Given the description of an element on the screen output the (x, y) to click on. 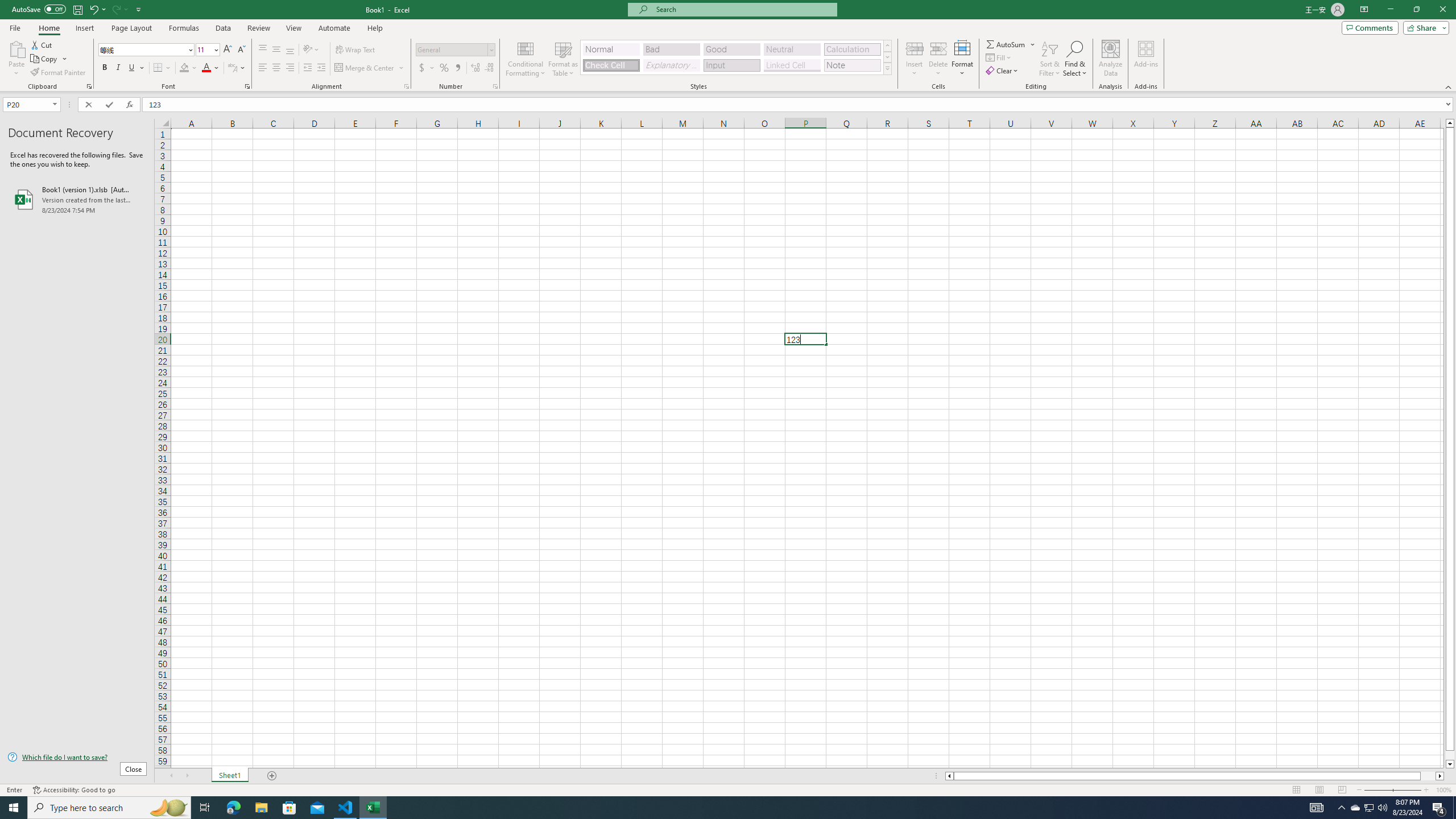
Fill Color (188, 67)
Merge & Center (365, 67)
Italic (118, 67)
Fill Color RGB(255, 255, 0) (183, 67)
Increase Decimal (474, 67)
Format as Table (563, 58)
Middle Align (276, 49)
Check Cell (611, 65)
